Given the description of an element on the screen output the (x, y) to click on. 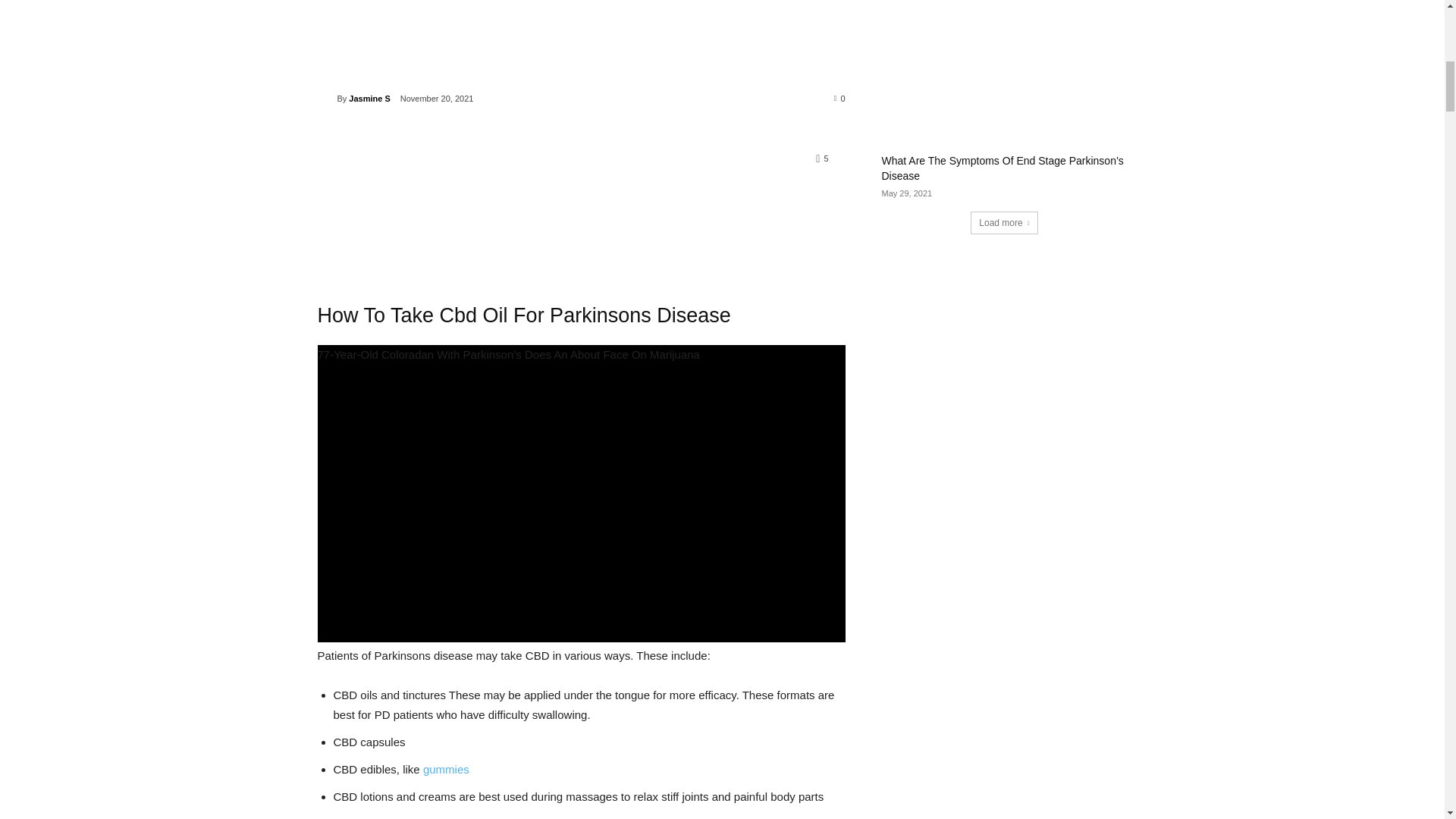
Jasmine S (326, 98)
Advertisement (580, 43)
